Given the description of an element on the screen output the (x, y) to click on. 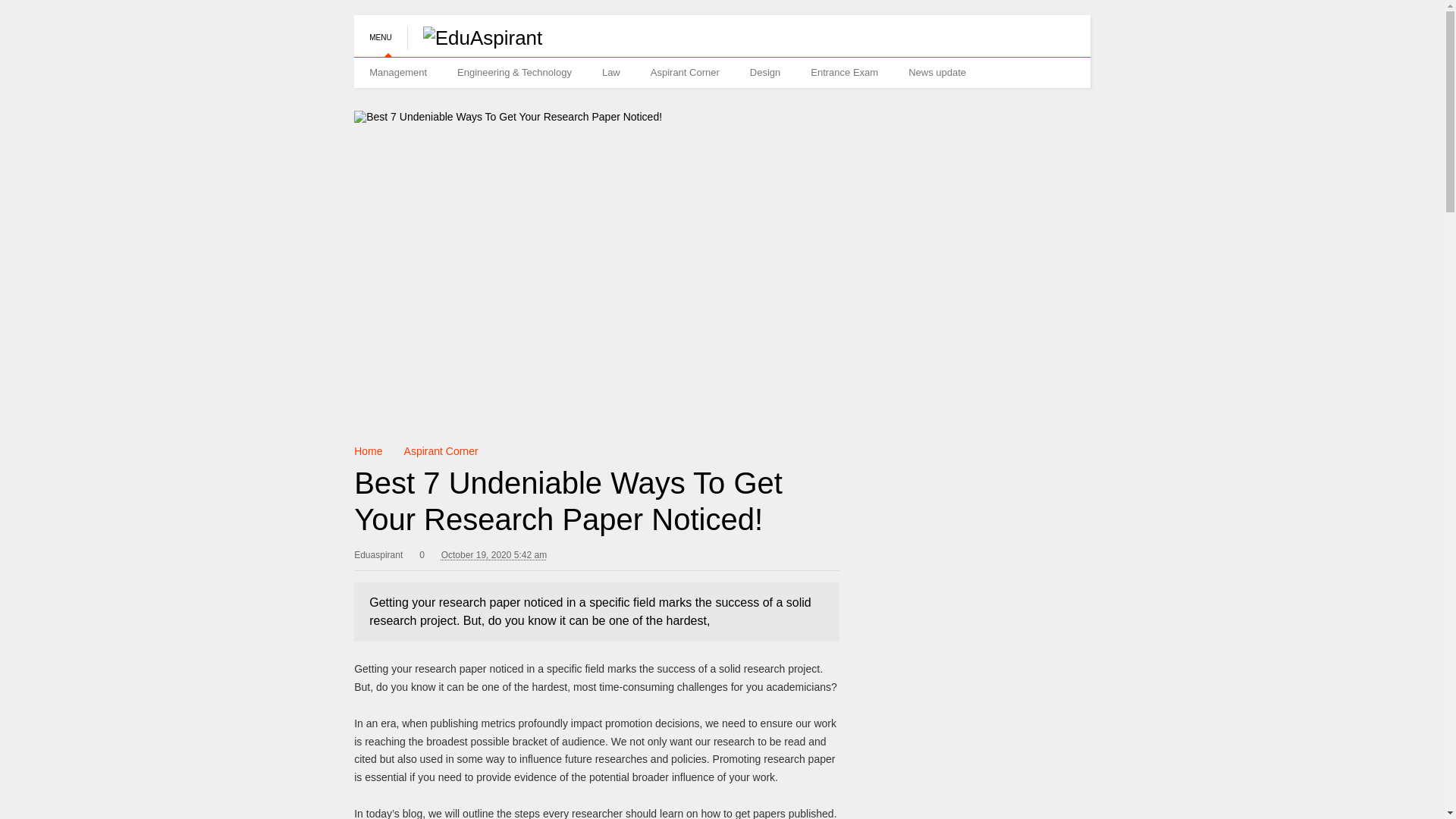
Law (610, 72)
EduAspirant (475, 37)
News update (937, 72)
Aspirant Corner (684, 72)
Management (397, 72)
October 19, 2020 5:42 am (494, 554)
Design (764, 72)
October 19, 2020 5:42 am (494, 554)
Entrance Exam (843, 72)
Aspirant Corner (441, 451)
Eduaspirant (378, 552)
Home (367, 451)
Eduaspirant (378, 552)
MENU (379, 30)
